Given the description of an element on the screen output the (x, y) to click on. 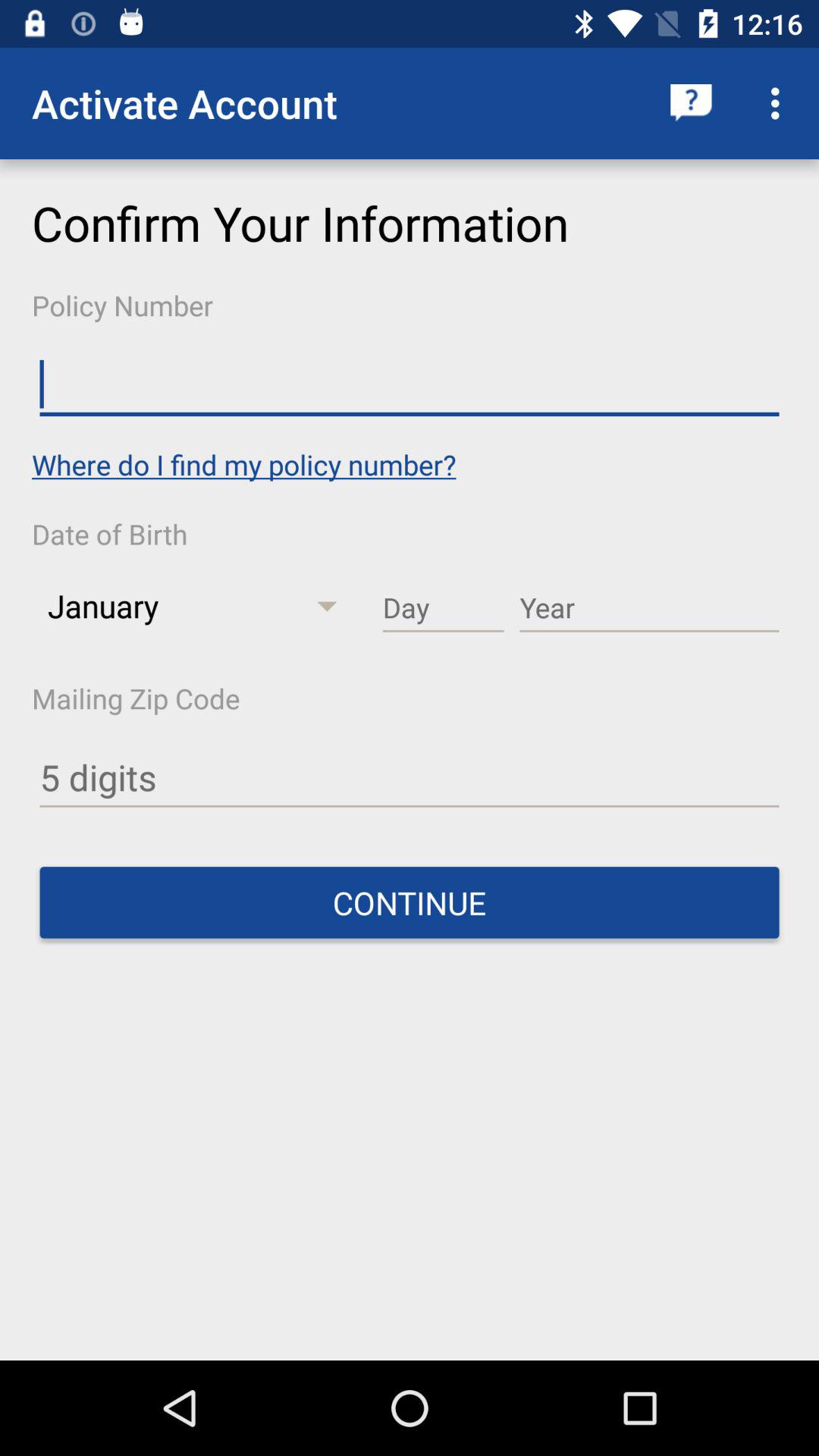
open the item on the right (649, 607)
